Given the description of an element on the screen output the (x, y) to click on. 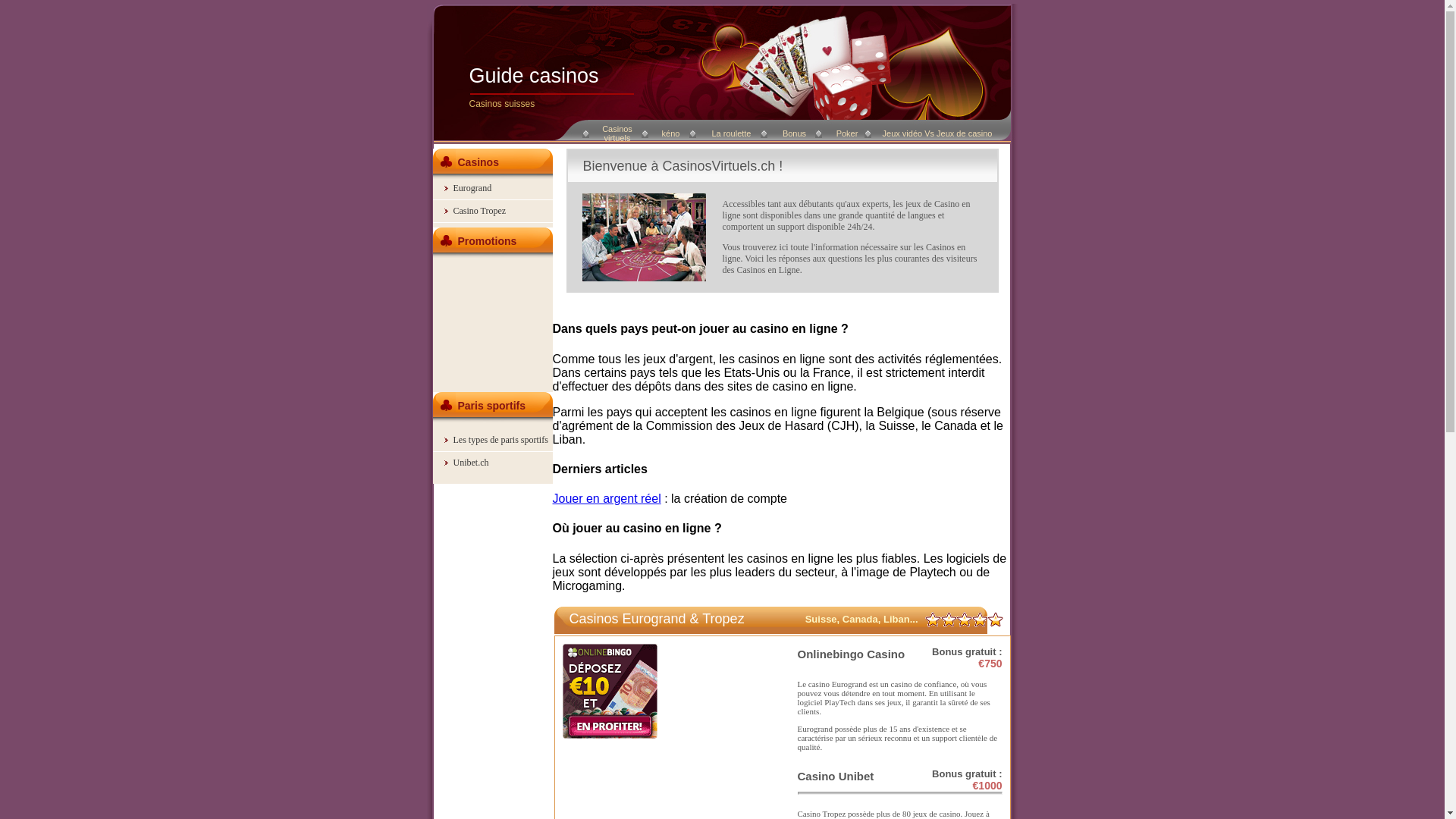
Unibet.ch Element type: text (471, 462)
Casinos virtuels Element type: text (617, 133)
Casino Tropez Element type: text (479, 210)
Les types de paris sportifs Element type: text (500, 439)
Onlinebingo Casino Element type: text (851, 653)
Eurogrand Element type: text (472, 187)
Poker Element type: text (847, 133)
Guide casinos Element type: text (533, 75)
Bonus Element type: text (794, 133)
Casino Element type: text (816, 775)
La roulette Element type: text (730, 133)
